Given the description of an element on the screen output the (x, y) to click on. 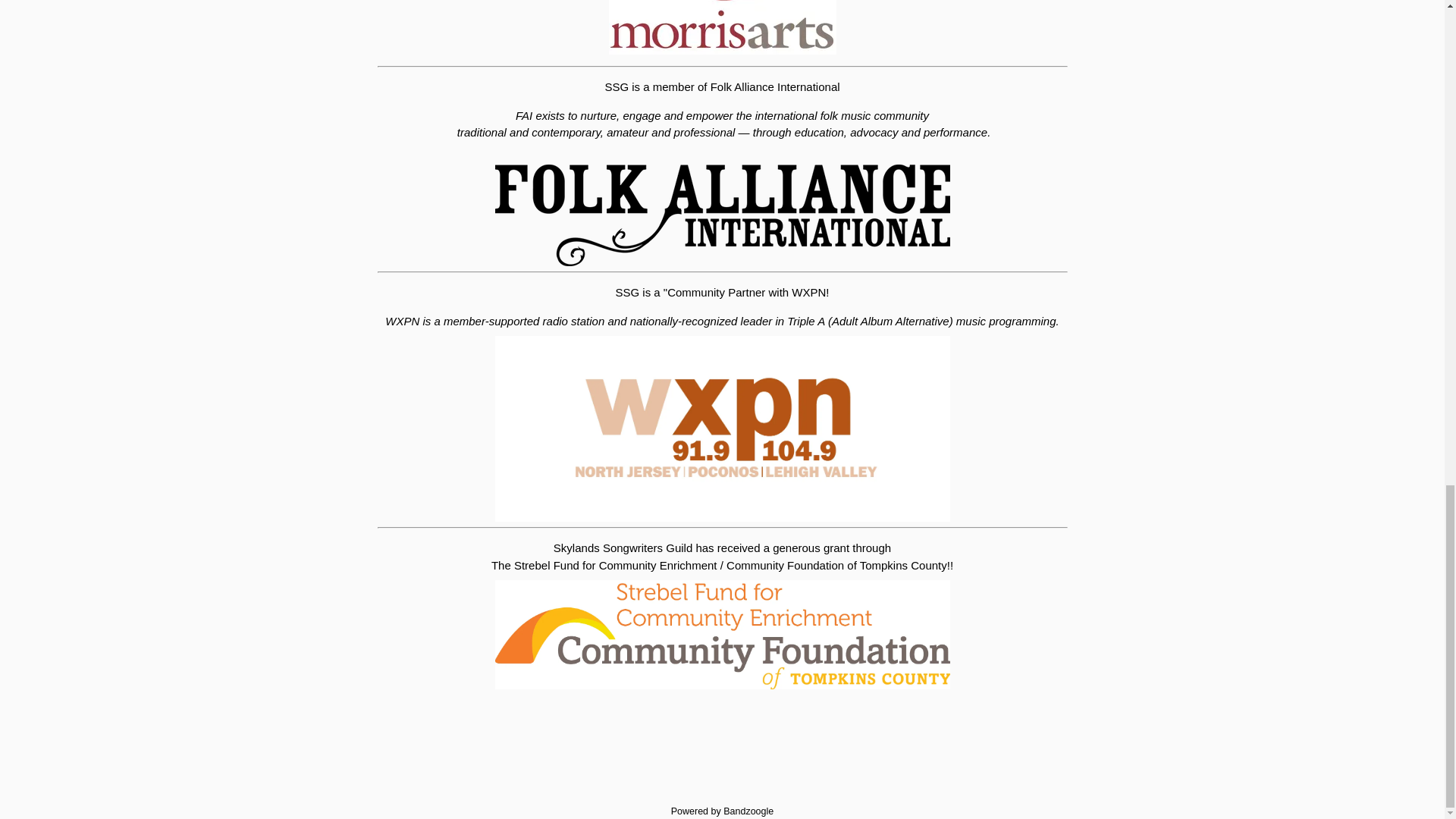
Powered by Bandzoogle (722, 810)
Powered by Bandzoogle (722, 810)
